Given the description of an element on the screen output the (x, y) to click on. 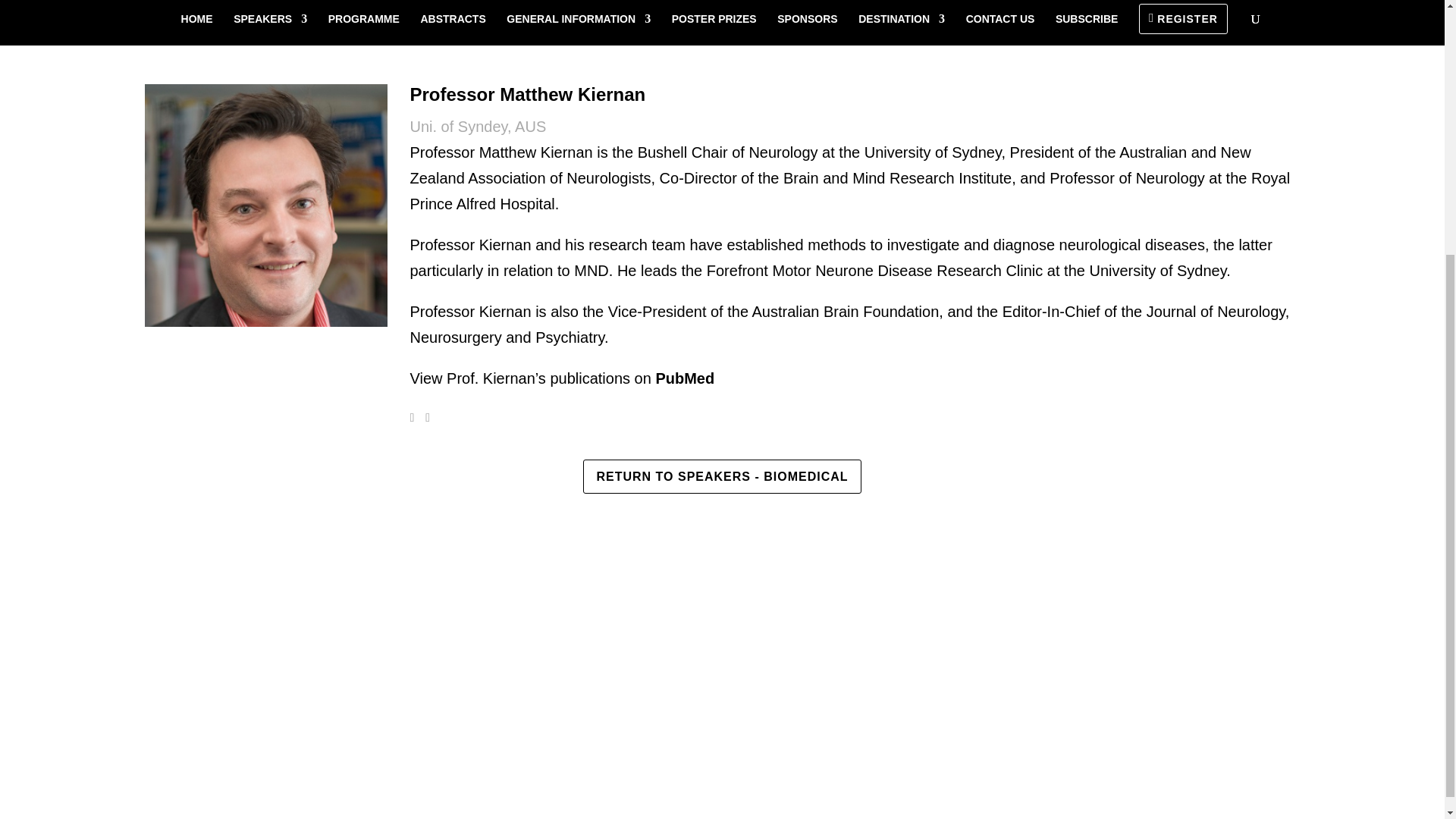
PubMed (684, 378)
RETURN TO SPEAKERS - BIOMEDICAL (721, 476)
